Given the description of an element on the screen output the (x, y) to click on. 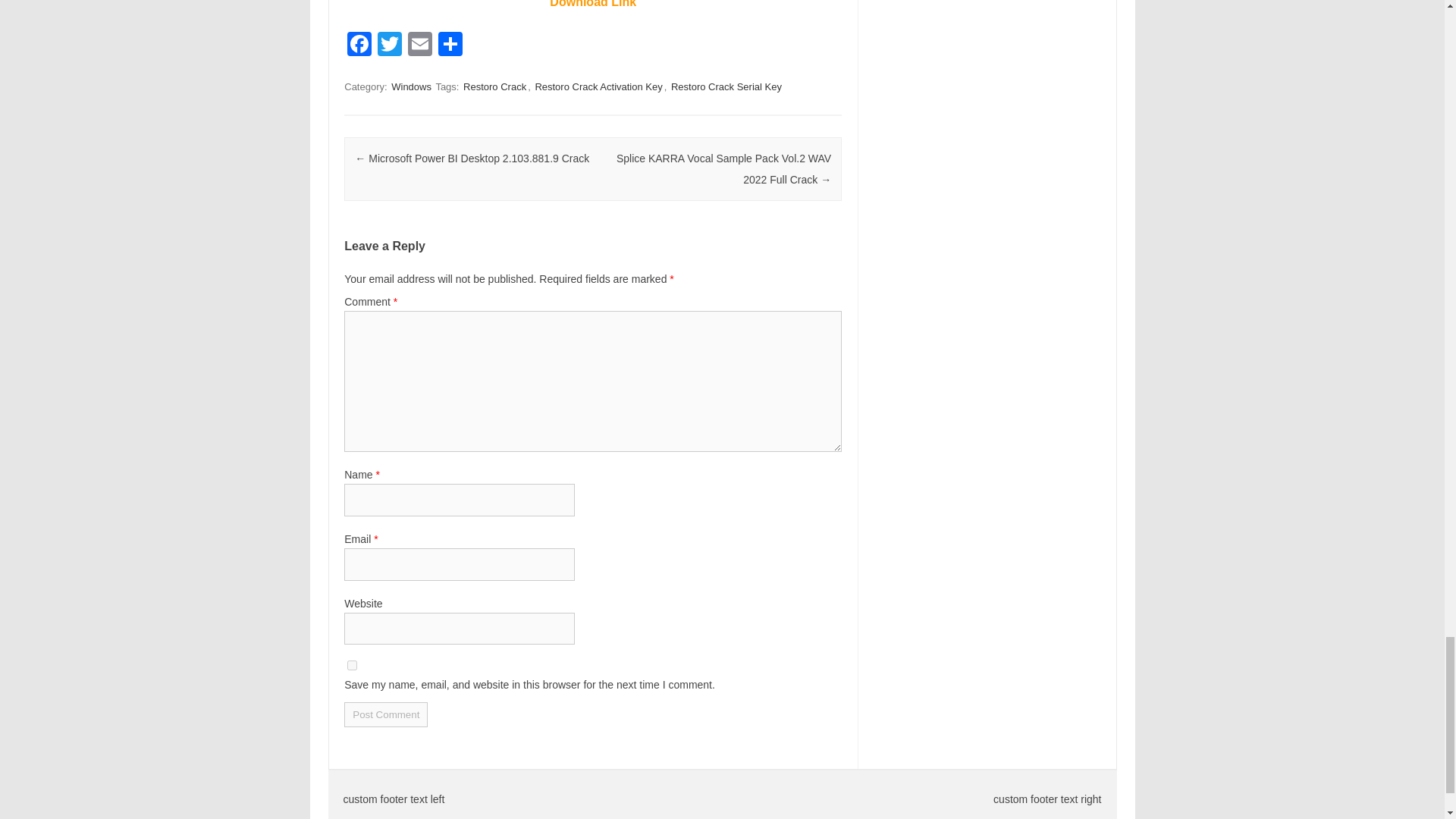
Email (419, 45)
Download Link (593, 4)
Restoro Crack Activation Key (597, 86)
Post Comment (385, 714)
Facebook (358, 45)
Post Comment (385, 714)
Twitter (389, 45)
Email (419, 45)
Restoro Crack Serial Key (726, 86)
Facebook (358, 45)
